Given the description of an element on the screen output the (x, y) to click on. 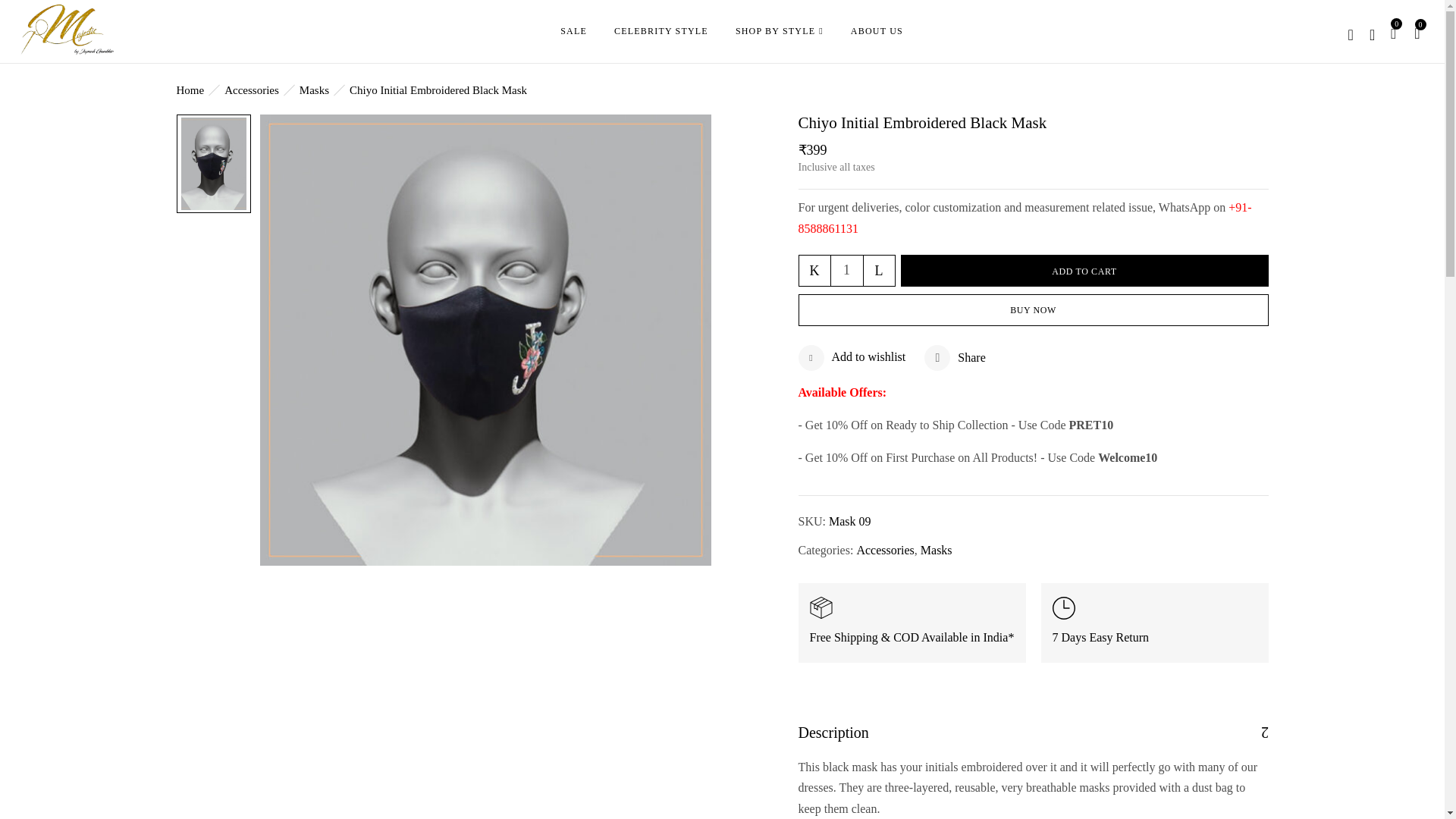
1 (847, 270)
Accessories (251, 90)
SHOP BY STYLE (779, 31)
Home (189, 90)
CELEBRITY STYLE (660, 31)
SALE (573, 31)
ABOUT US (876, 31)
Masks (314, 90)
